Given the description of an element on the screen output the (x, y) to click on. 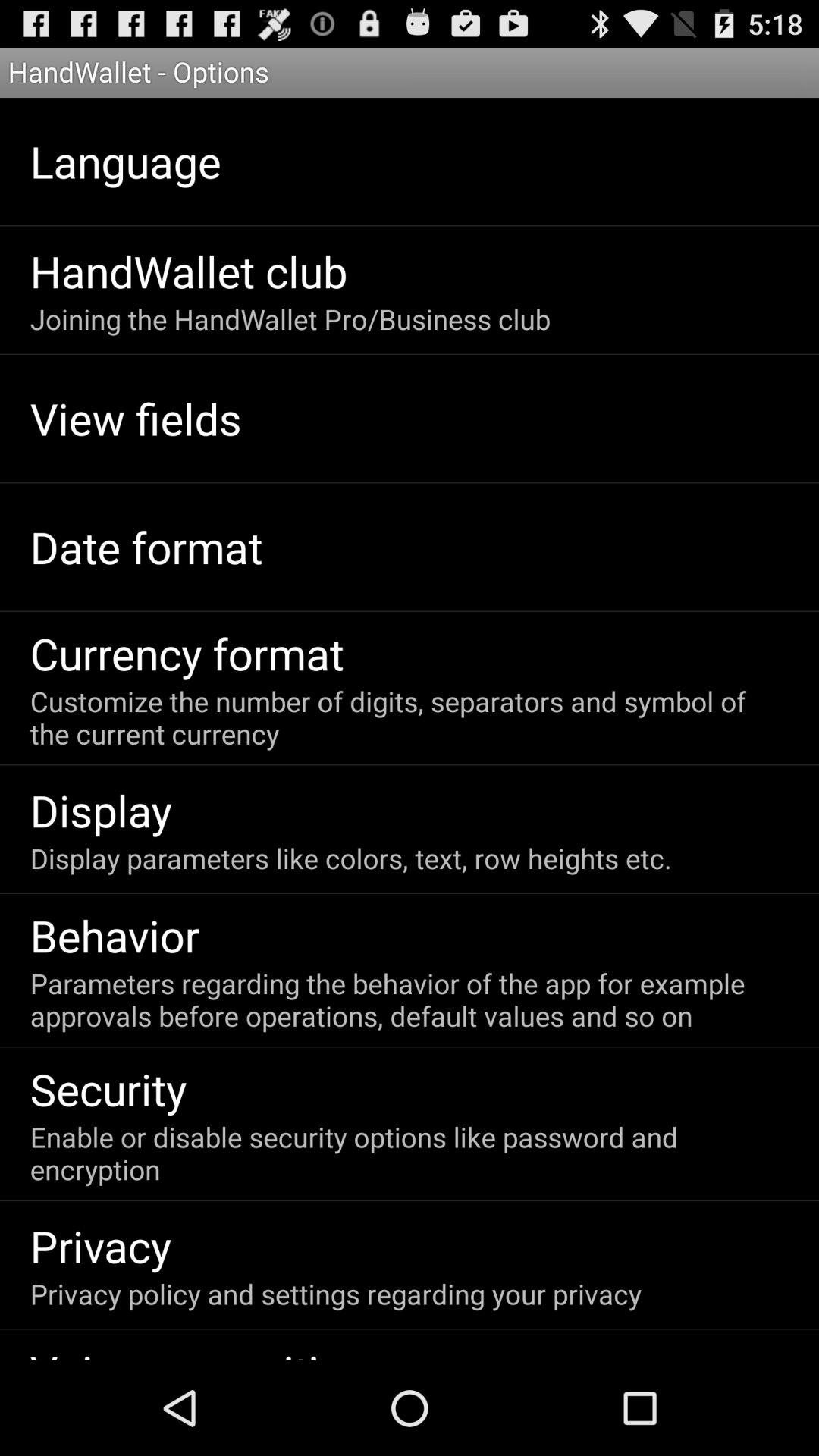
swipe to display parameters like icon (350, 858)
